Given the description of an element on the screen output the (x, y) to click on. 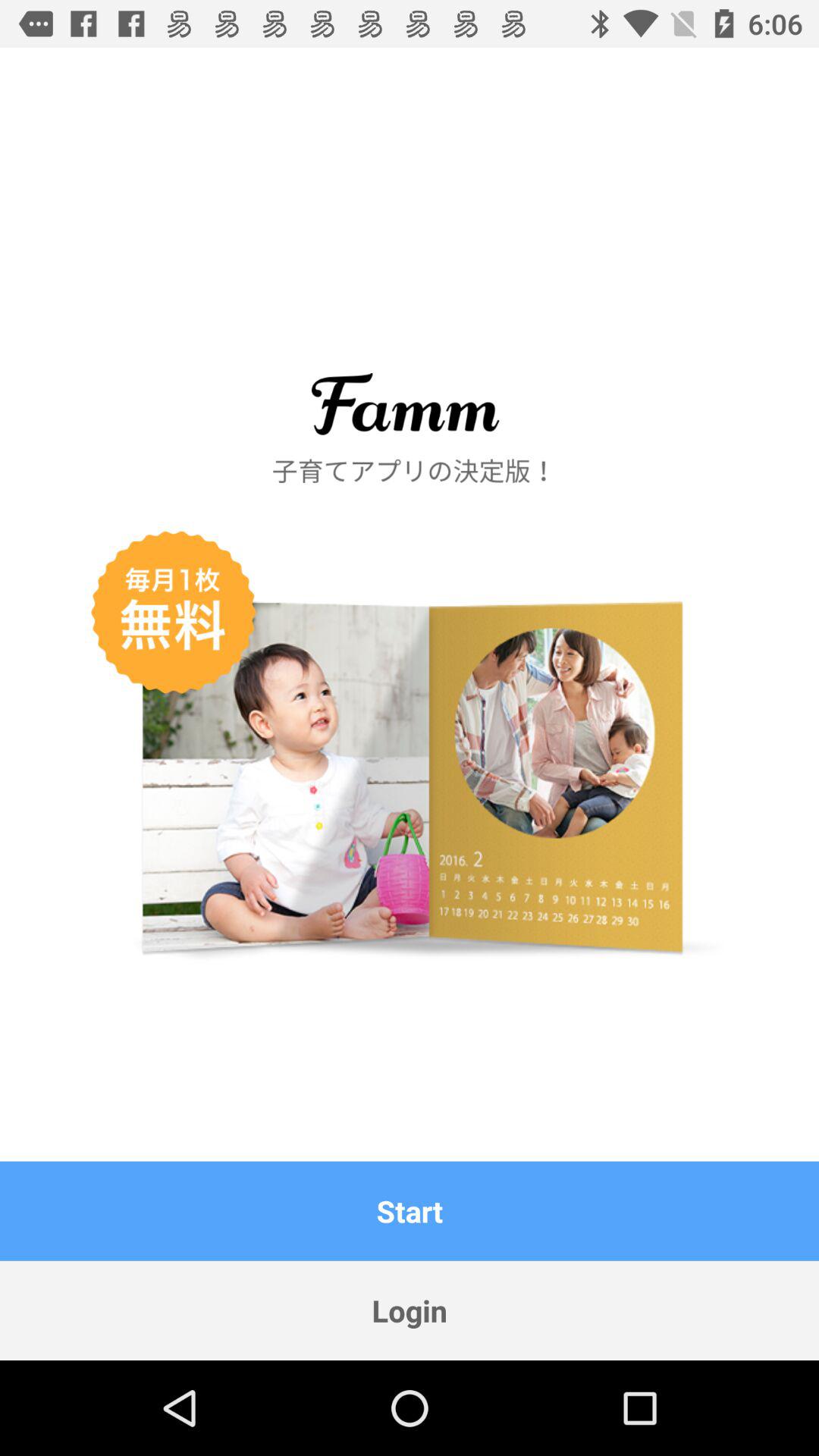
tap item below the start item (409, 1310)
